Given the description of an element on the screen output the (x, y) to click on. 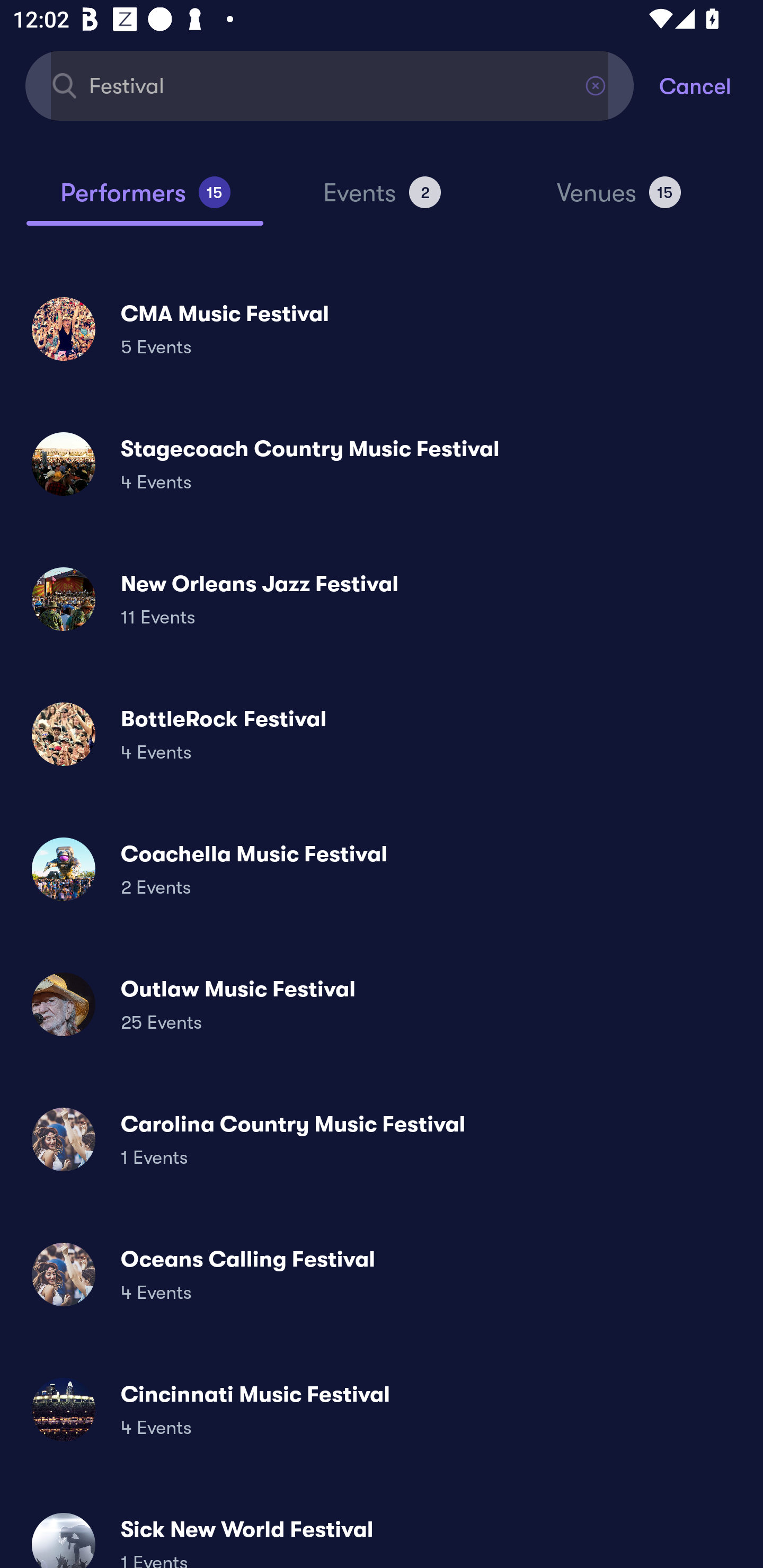
Festival Find (329, 85)
Festival Find (329, 85)
Cancel (711, 85)
Performers 15 (144, 200)
Events 2 (381, 200)
Venues 15 (618, 200)
CMA Music Festival 5 Events (381, 328)
Stagecoach Country Music Festival 4 Events (381, 464)
New Orleans Jazz Festival 11 Events (381, 598)
BottleRock Festival 4 Events (381, 734)
Coachella Music Festival 2 Events (381, 869)
Outlaw Music Festival 25 Events (381, 1004)
Carolina Country Music Festival 1 Events (381, 1138)
Oceans Calling Festival 4 Events (381, 1273)
Cincinnati Music Festival 4 Events (381, 1409)
Sick New World Festival 1 Events (381, 1532)
